Given the description of an element on the screen output the (x, y) to click on. 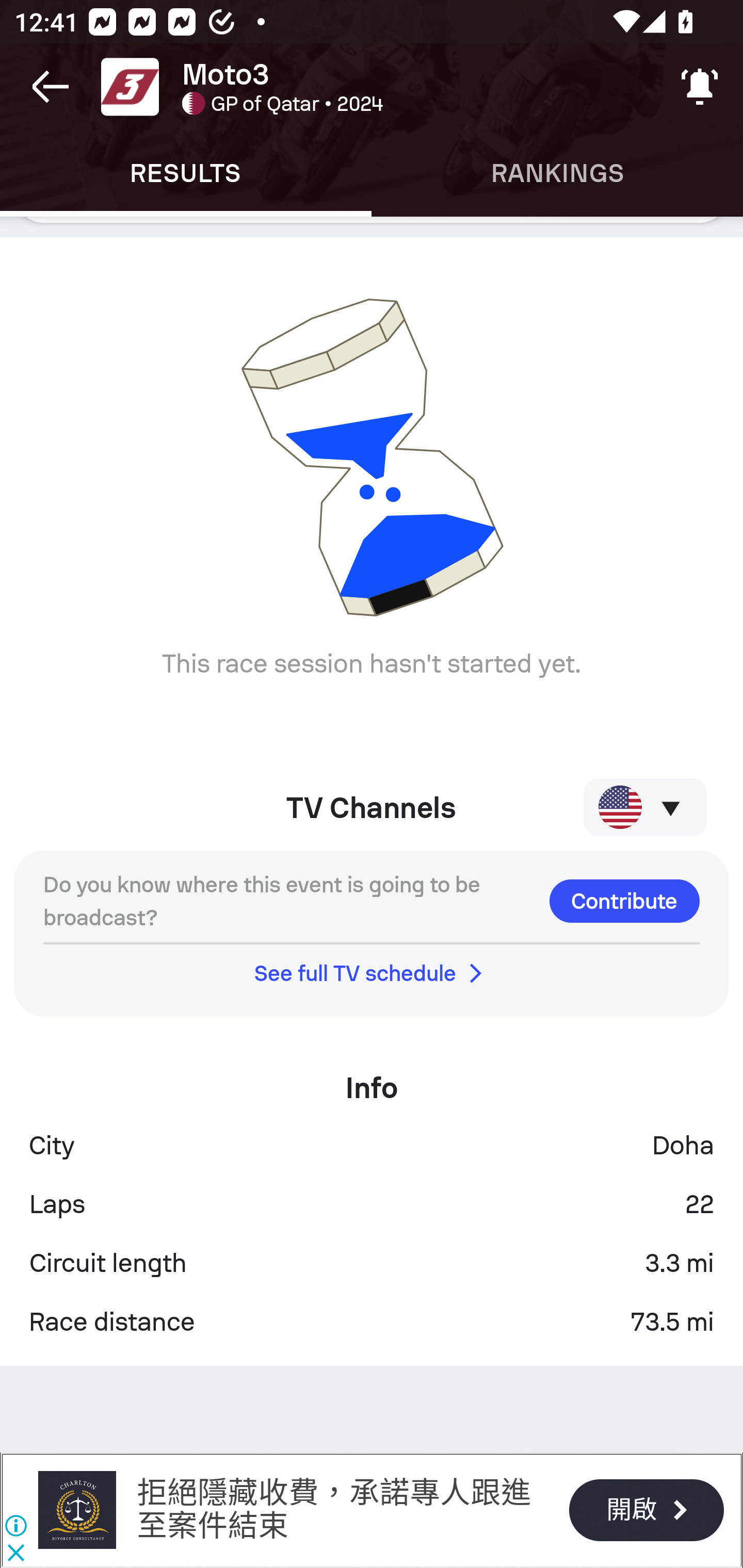
Navigate up (50, 86)
Rankings RANKINGS (557, 173)
Contribute (624, 900)
See full TV schedule (371, 972)
查爾頓事務所 (76, 1509)
拒絕隱藏收費，承諾專人跟進 至案件結束 拒絕隱藏收費，承諾專人跟進 至案件結束 (333, 1508)
開啟 (645, 1509)
